Given the description of an element on the screen output the (x, y) to click on. 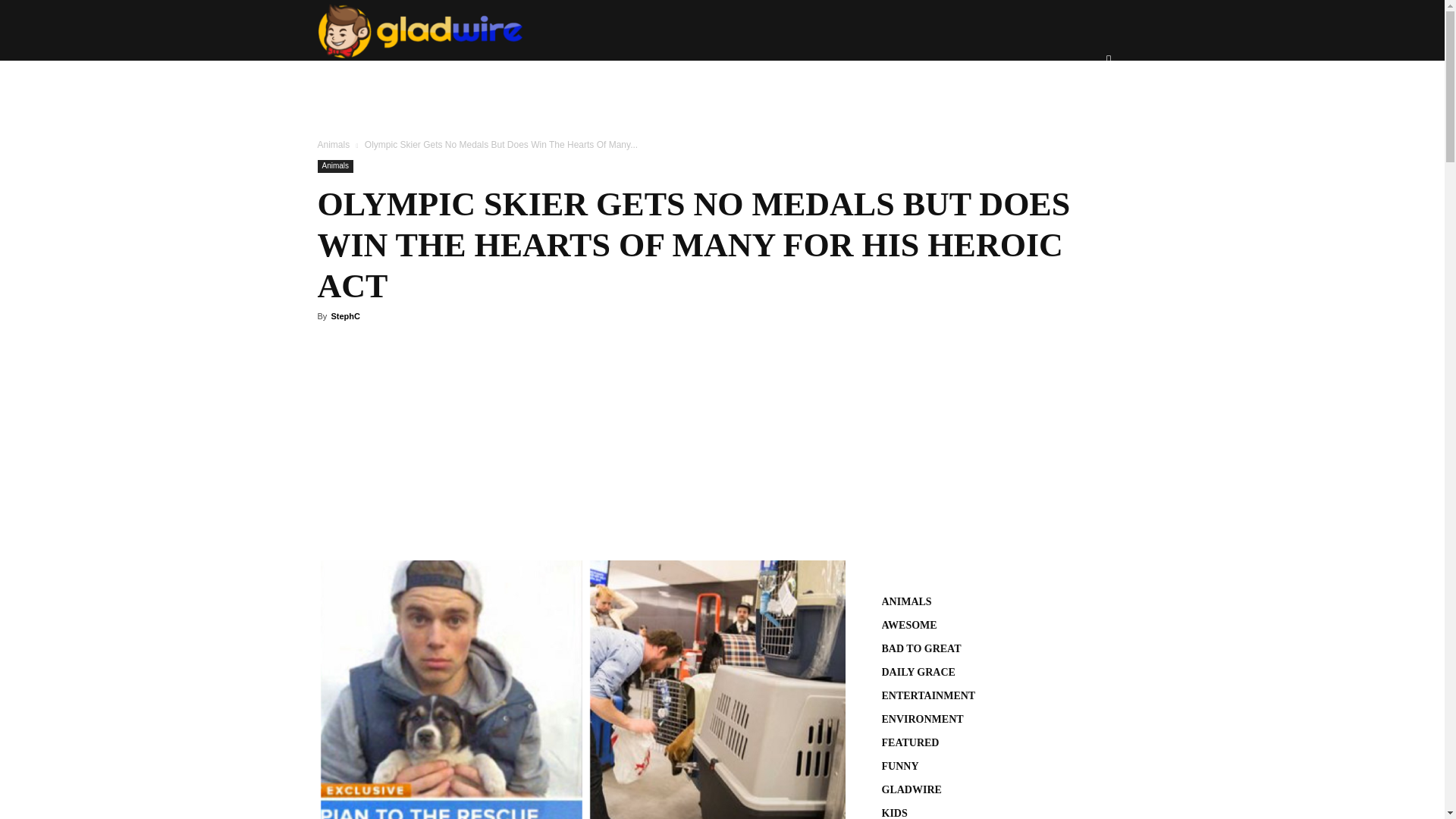
Gladwire.com Logo (419, 30)
ANIMALS (524, 90)
FEATURED (818, 90)
Advertisement (580, 448)
AWESOME (609, 90)
Animals (335, 165)
BAD TO GREAT (713, 90)
View all posts in Animals (334, 144)
StephC (344, 316)
Animals (334, 144)
